Given the description of an element on the screen output the (x, y) to click on. 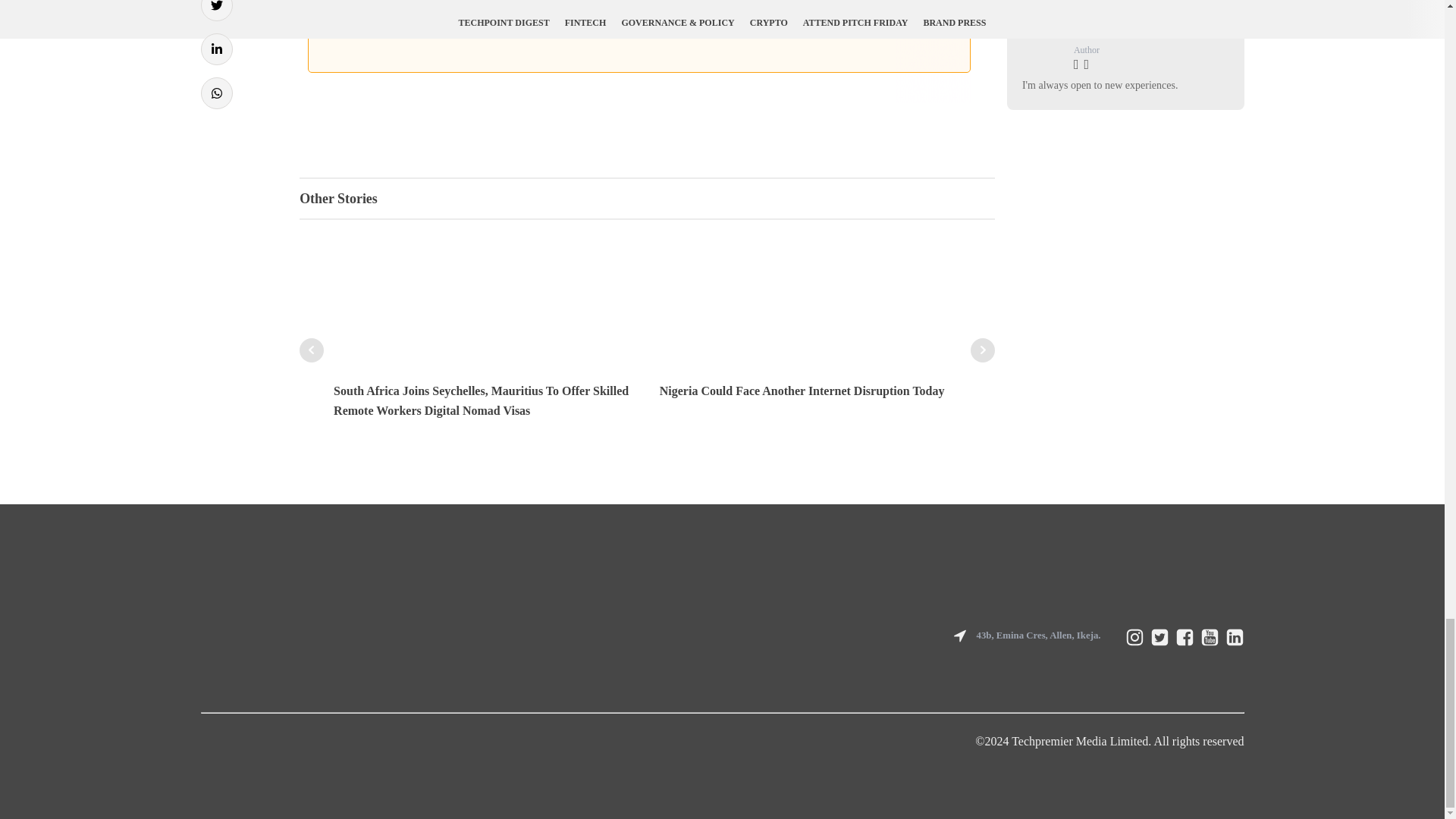
Titilola Oludimu (1112, 33)
3rd party ad content (639, 51)
